Given the description of an element on the screen output the (x, y) to click on. 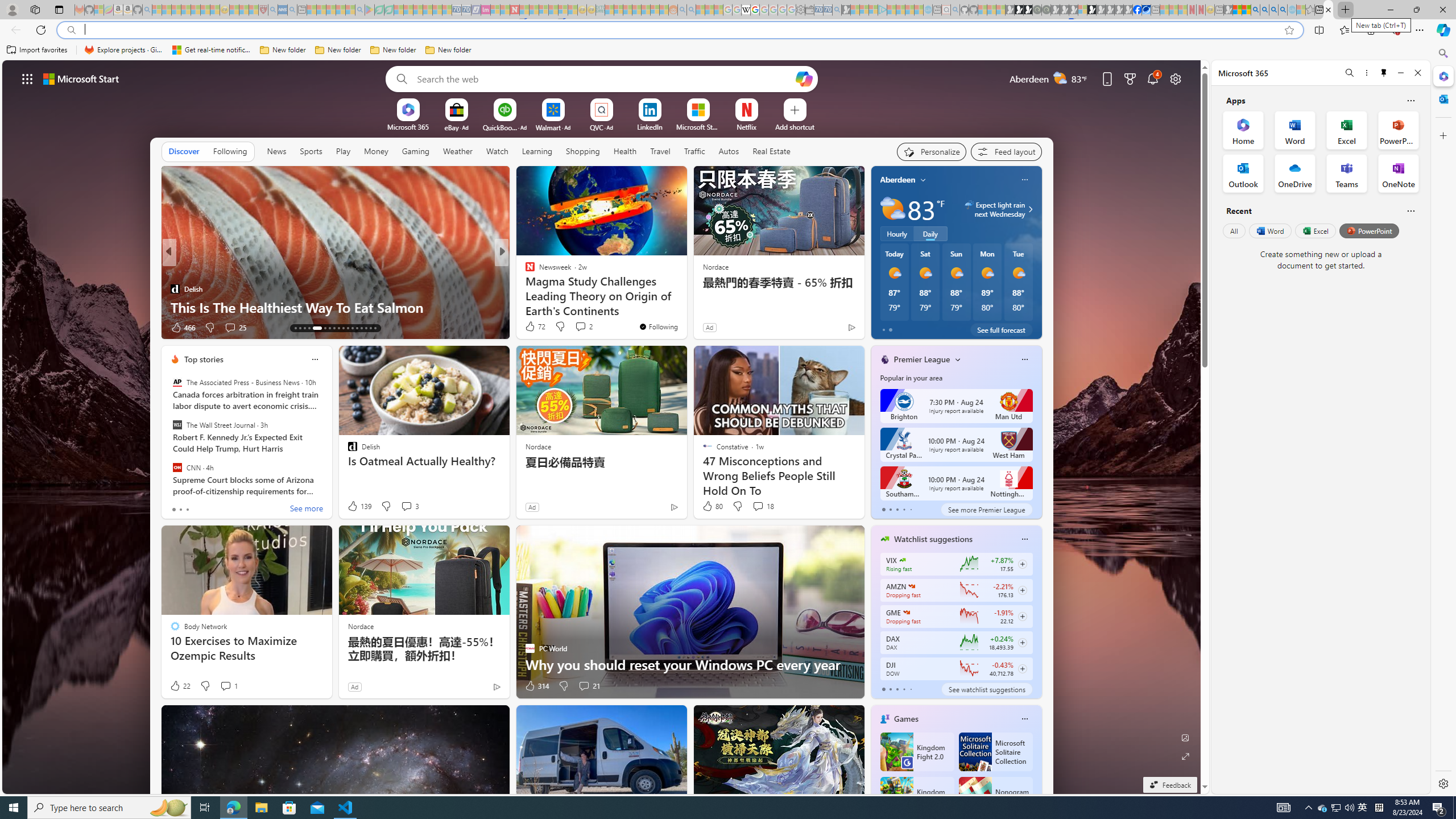
Google Chrome Internet Browser Download - Search Images (1283, 9)
View comments 1 Comment (225, 685)
Health (624, 151)
The Associated Press - Business News (176, 382)
DITOGAMES AG Imprint - Sleeping (600, 9)
AirNow.gov (1146, 9)
Microsoft account | Privacy - Sleeping (872, 9)
Mostly sunny (1018, 273)
Liron Segev (524, 288)
Ad (354, 686)
Microsoft Start - Sleeping (908, 9)
View comments 11 Comment (580, 327)
